Given the description of an element on the screen output the (x, y) to click on. 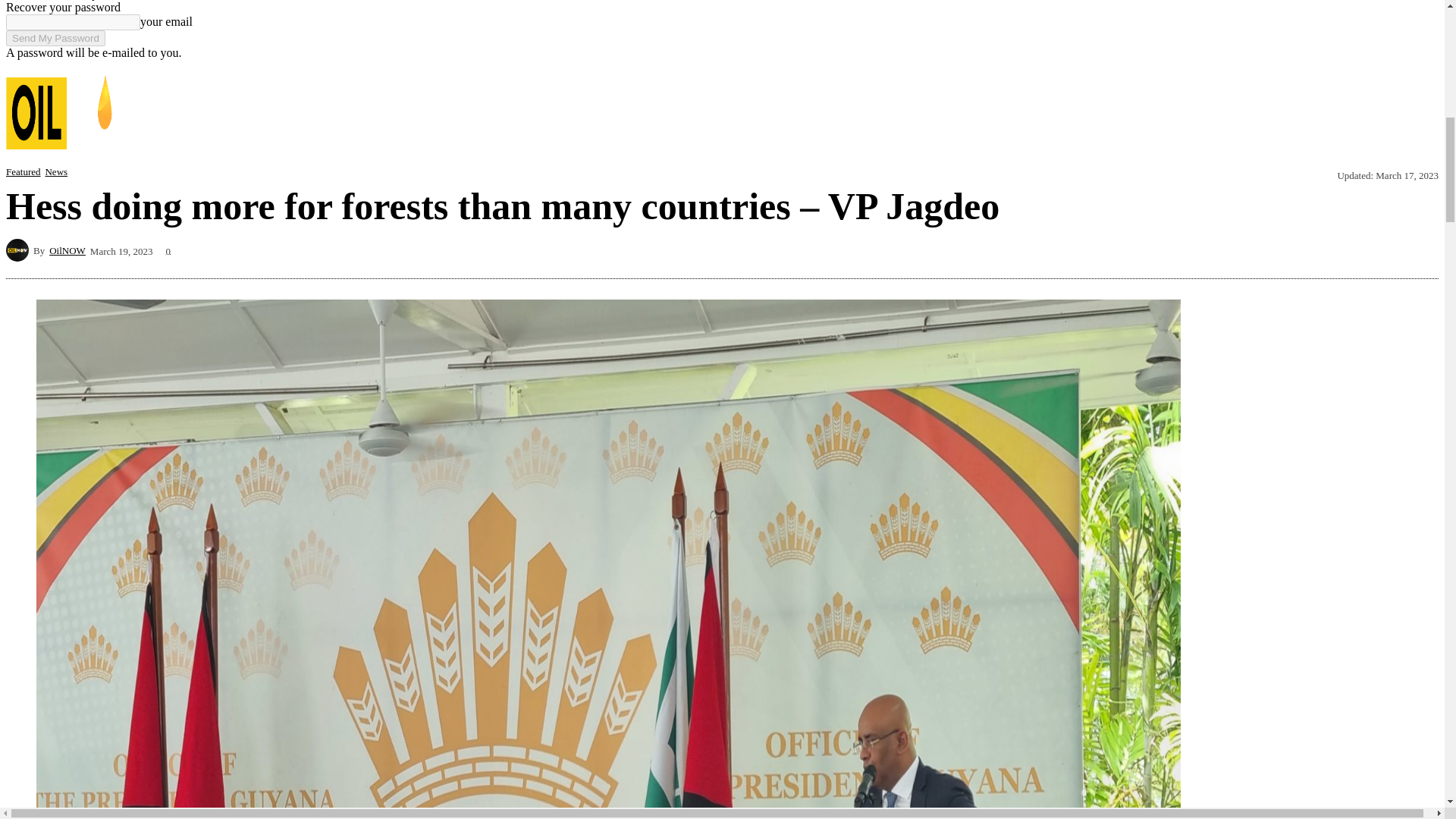
OilNOW (19, 250)
Send My Password (54, 37)
